Given the description of an element on the screen output the (x, y) to click on. 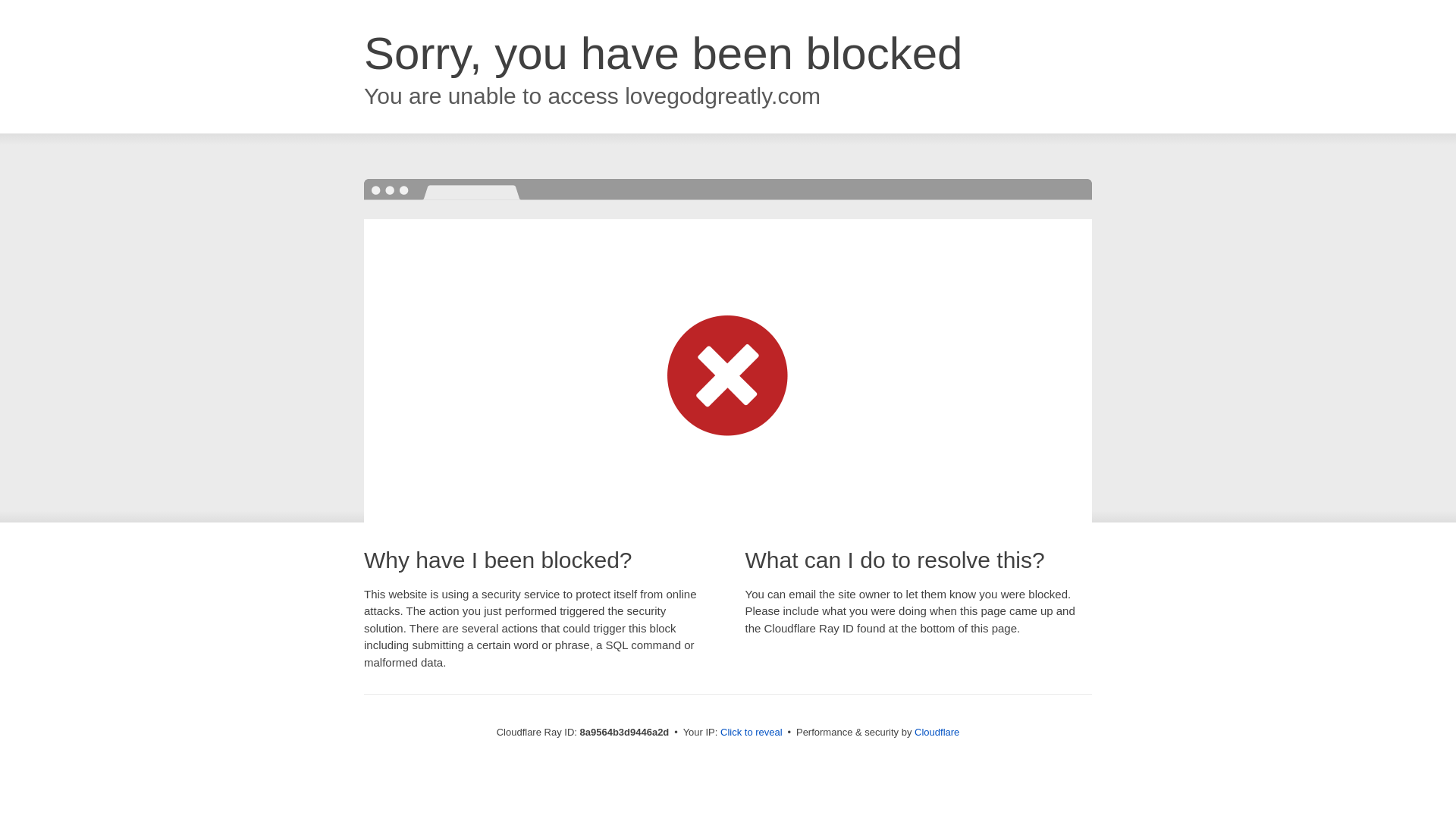
Cloudflare (936, 731)
Click to reveal (751, 732)
